Given the description of an element on the screen output the (x, y) to click on. 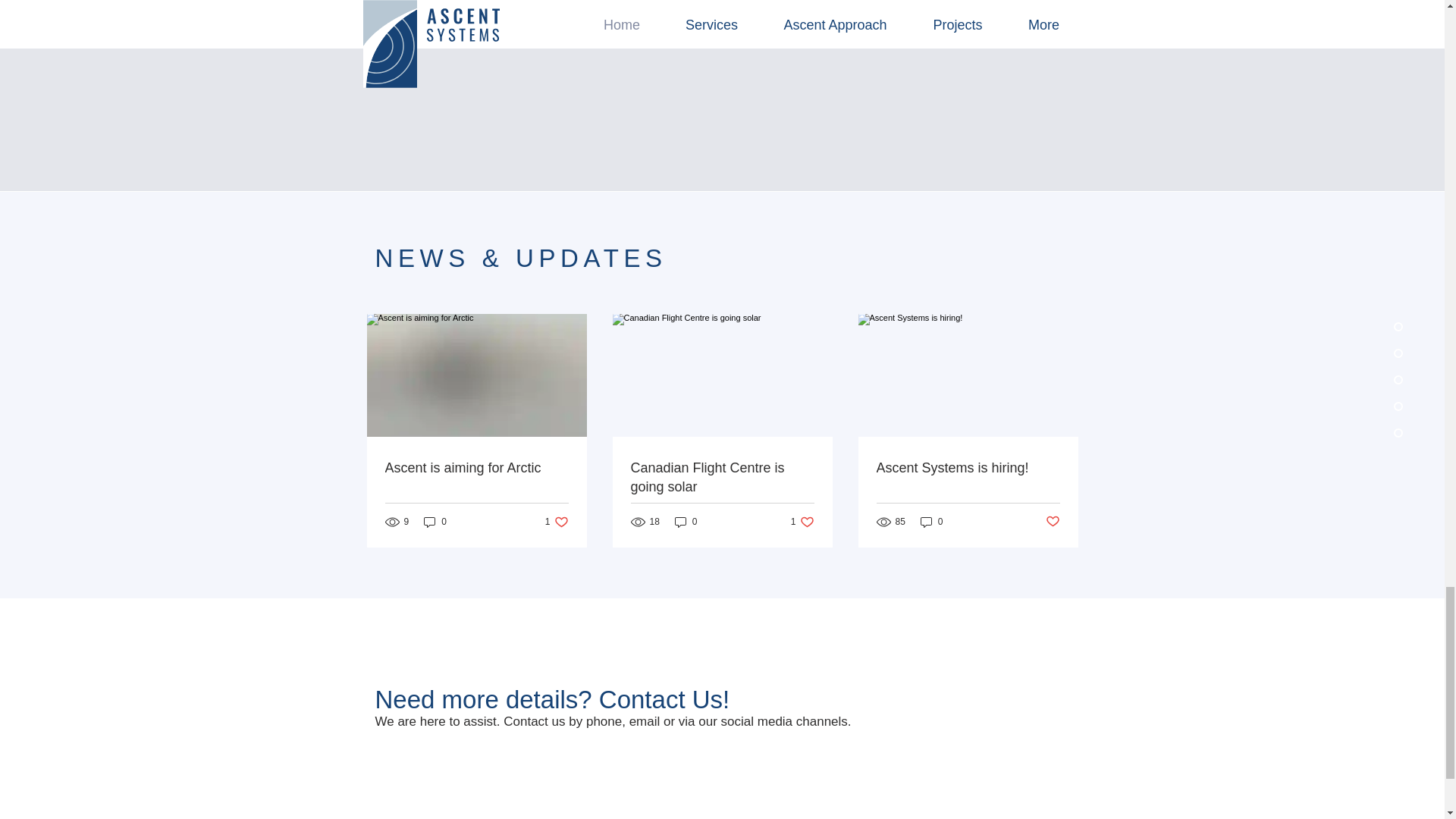
0 (685, 522)
Post not marked as liked (1052, 521)
0 (435, 522)
Ascent Systems is hiring! (556, 522)
0 (967, 467)
Canadian Flight Centre is going solar (931, 522)
Ascent is aiming for Arctic (721, 477)
